Given the description of an element on the screen output the (x, y) to click on. 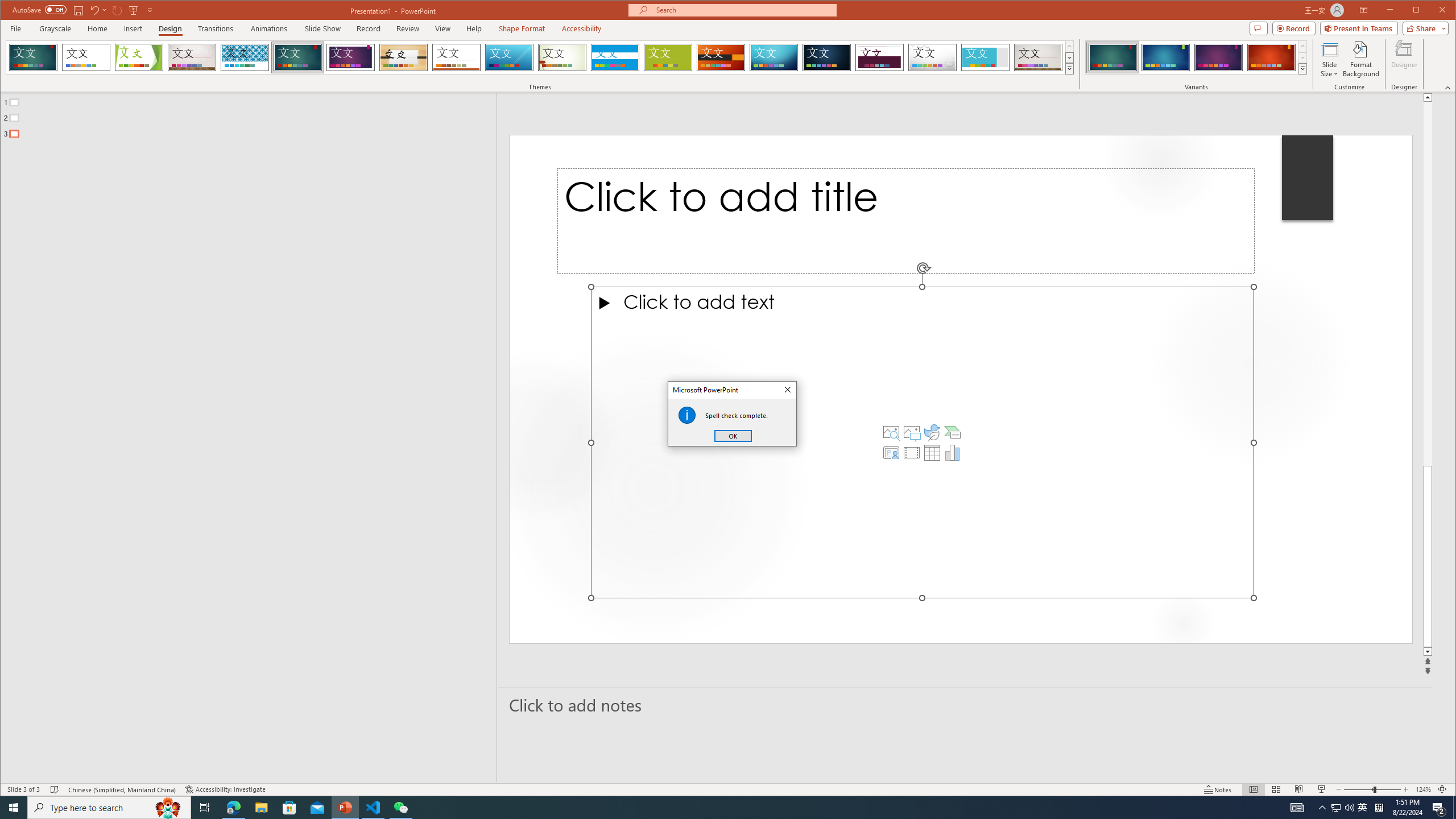
Variants (1302, 68)
Ion Variant 4 (1270, 57)
Outline (252, 115)
Gallery (1037, 57)
Frame (985, 57)
